Given the description of an element on the screen output the (x, y) to click on. 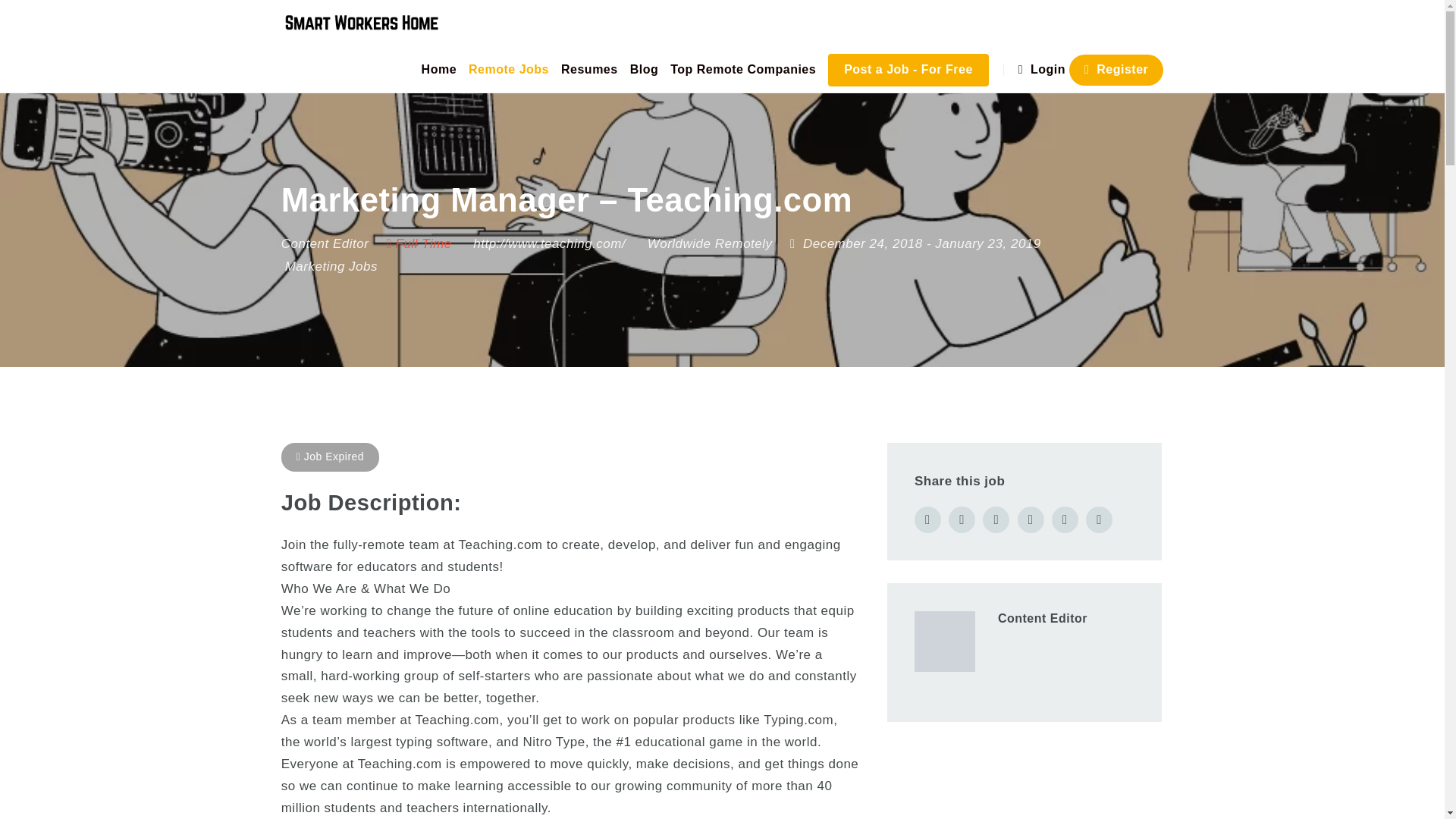
Worldwide Remotely (710, 243)
Blog (644, 68)
Post a Job - For Free (908, 70)
 Login (1042, 68)
Remote Jobs (508, 68)
Top Remote Companies (742, 68)
International Remote Job Board Made For You. (361, 22)
Home (438, 68)
 Register (1115, 69)
Full Time (419, 243)
Resumes (589, 68)
Content Editor (325, 243)
Marketing Jobs (331, 266)
